Given the description of an element on the screen output the (x, y) to click on. 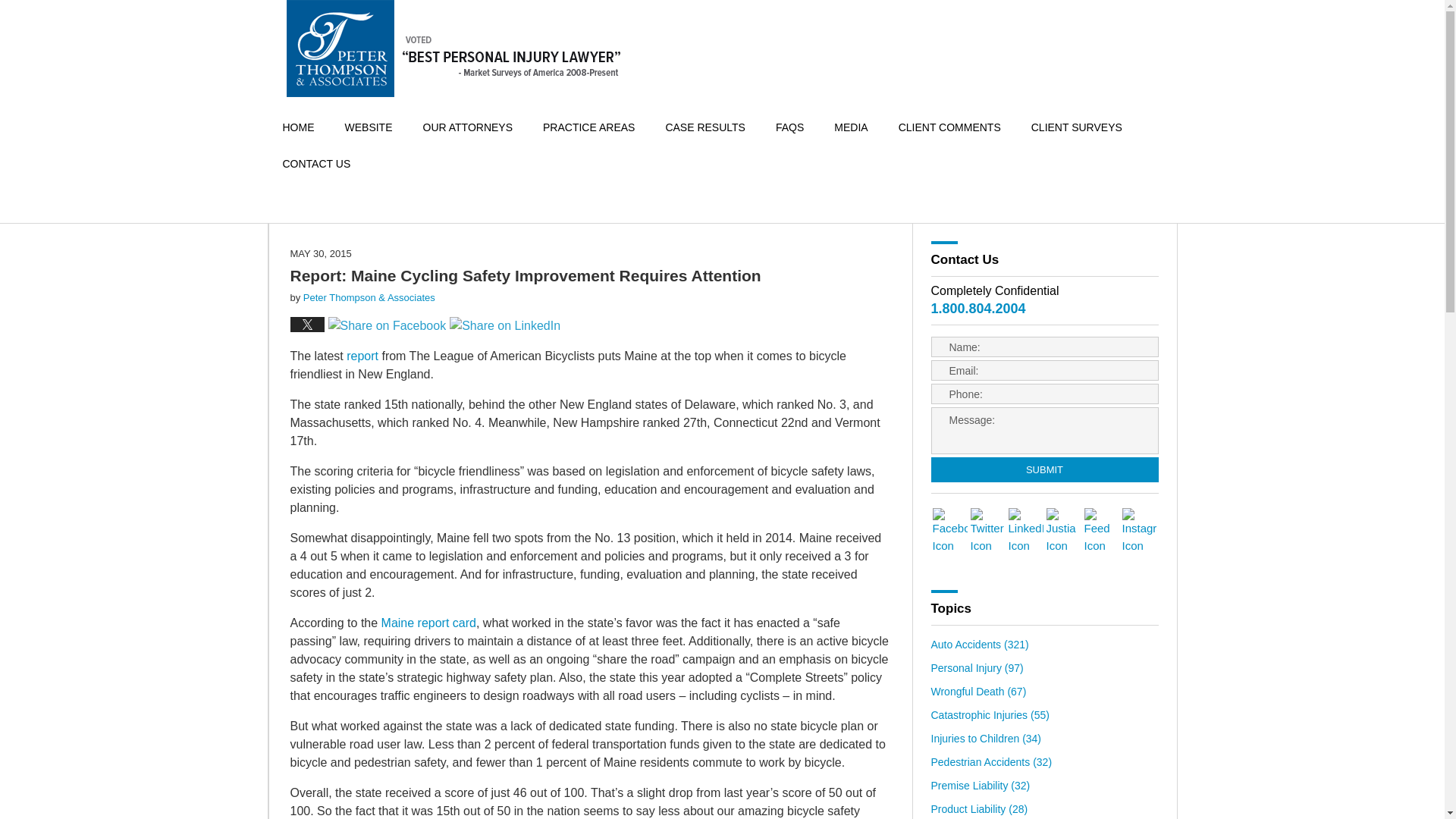
PRACTICE AREAS (588, 126)
WEBSITE (368, 126)
report (362, 355)
Facebook (950, 530)
Instagram (1139, 530)
Please enter a valid phone number. (1044, 394)
Justia (1064, 530)
CLIENT COMMENTS (949, 126)
Feed (1102, 530)
MEDIA (850, 126)
Maine report card (426, 622)
OUR ATTORNEYS (467, 126)
Maine Injury Lawyer Blog (453, 48)
CONTACT US (315, 163)
CLIENT SURVEYS (1076, 126)
